Given the description of an element on the screen output the (x, y) to click on. 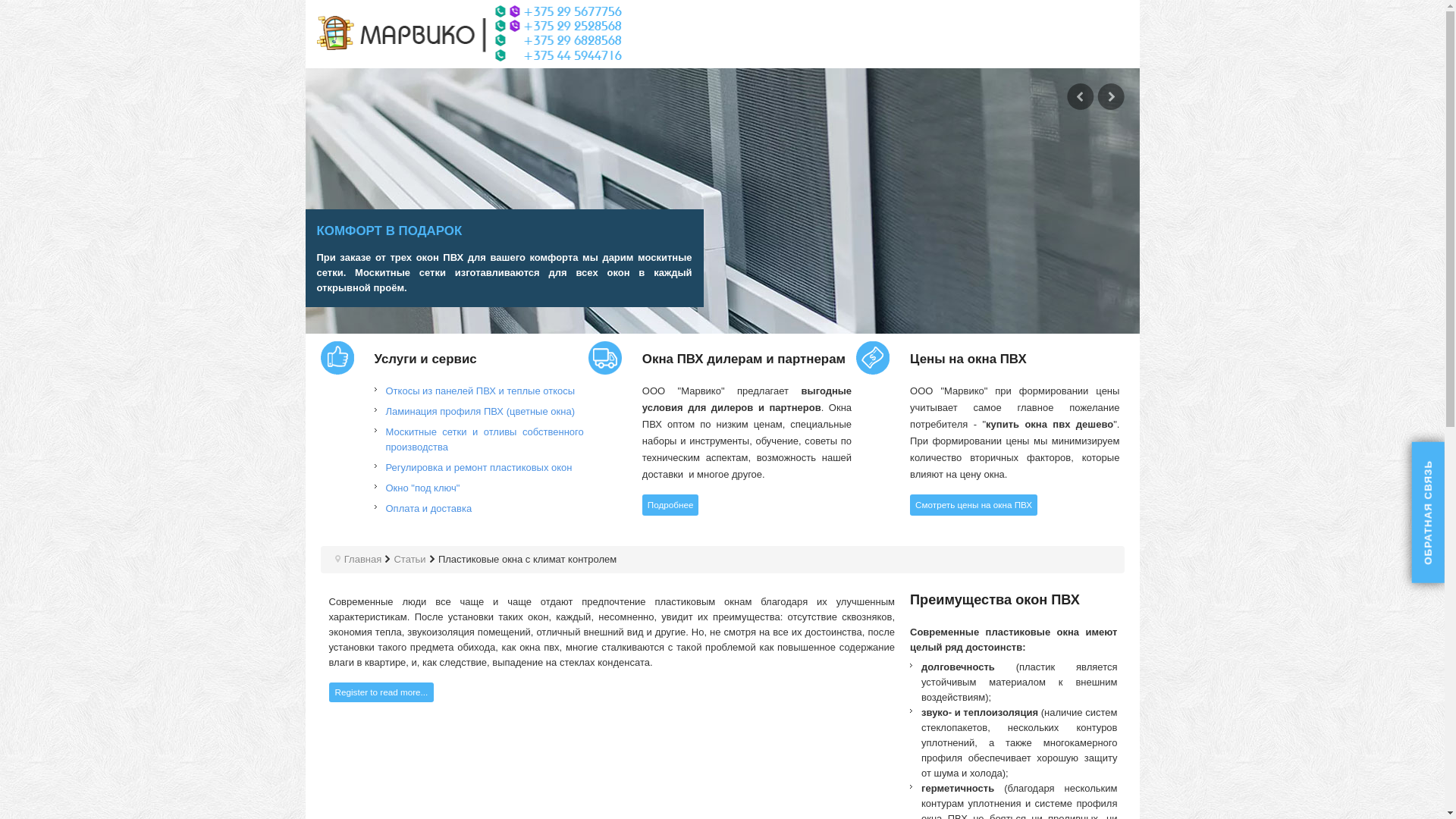
previous Element type: hover (1079, 96)
next Element type: hover (1109, 96)
Register to read more... Element type: text (381, 692)
